Given the description of an element on the screen output the (x, y) to click on. 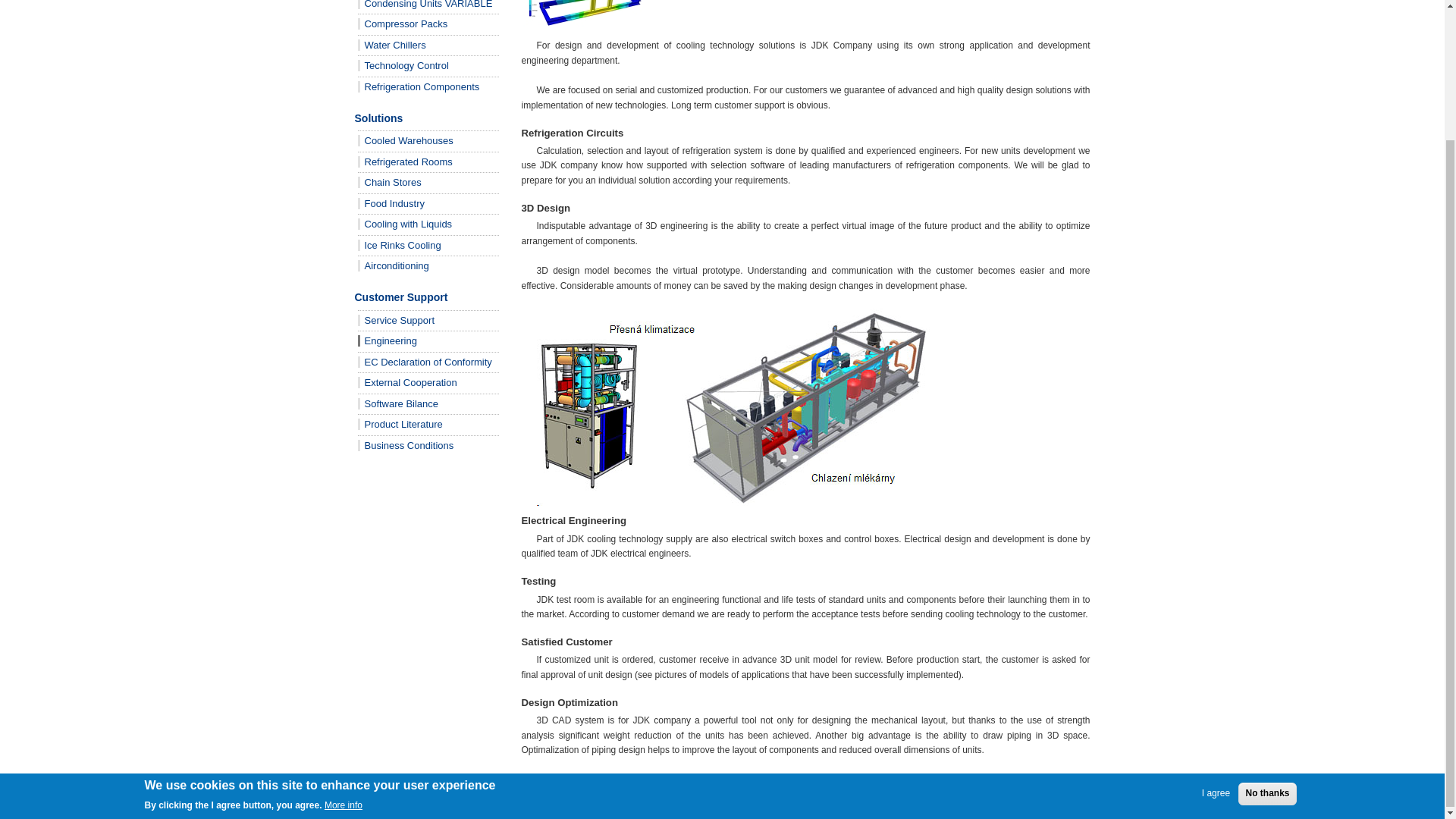
Airconditioning (393, 265)
Cooled Warehouses (405, 140)
Business Conditions (406, 444)
Cooling with Liquids (405, 224)
Chain Stores (390, 182)
Compressor Packs (403, 23)
Water Chillers (392, 44)
Ice Rinks Cooling (399, 244)
Food Industry (391, 203)
Refrigeration Components (419, 86)
Product Literature (400, 423)
External Cooperation (407, 382)
Software Bilance (398, 403)
EC Declaration of Conformity (425, 361)
Technology Control (403, 65)
